Given the description of an element on the screen output the (x, y) to click on. 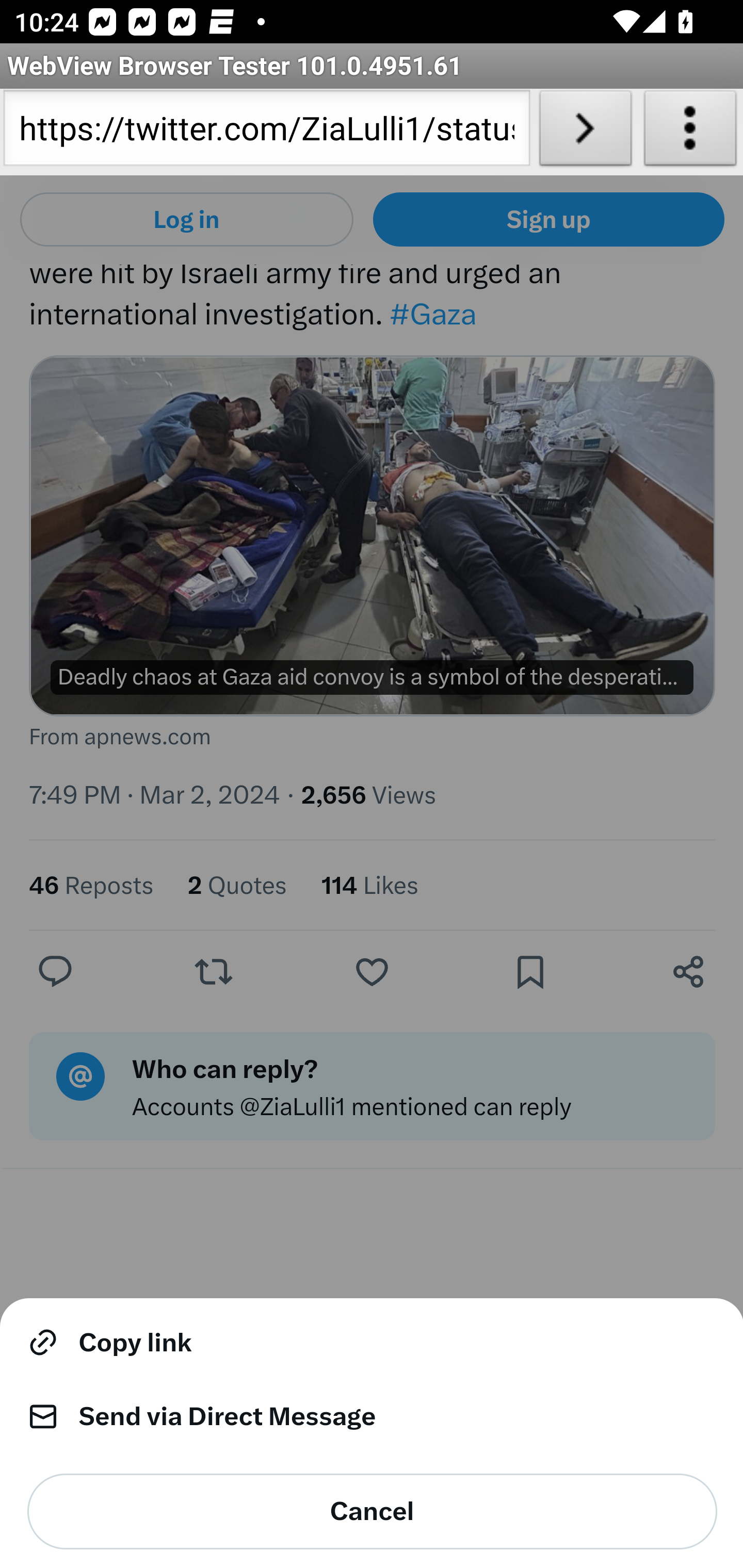
Load URL (585, 132)
About WebView (690, 132)
